Given the description of an element on the screen output the (x, y) to click on. 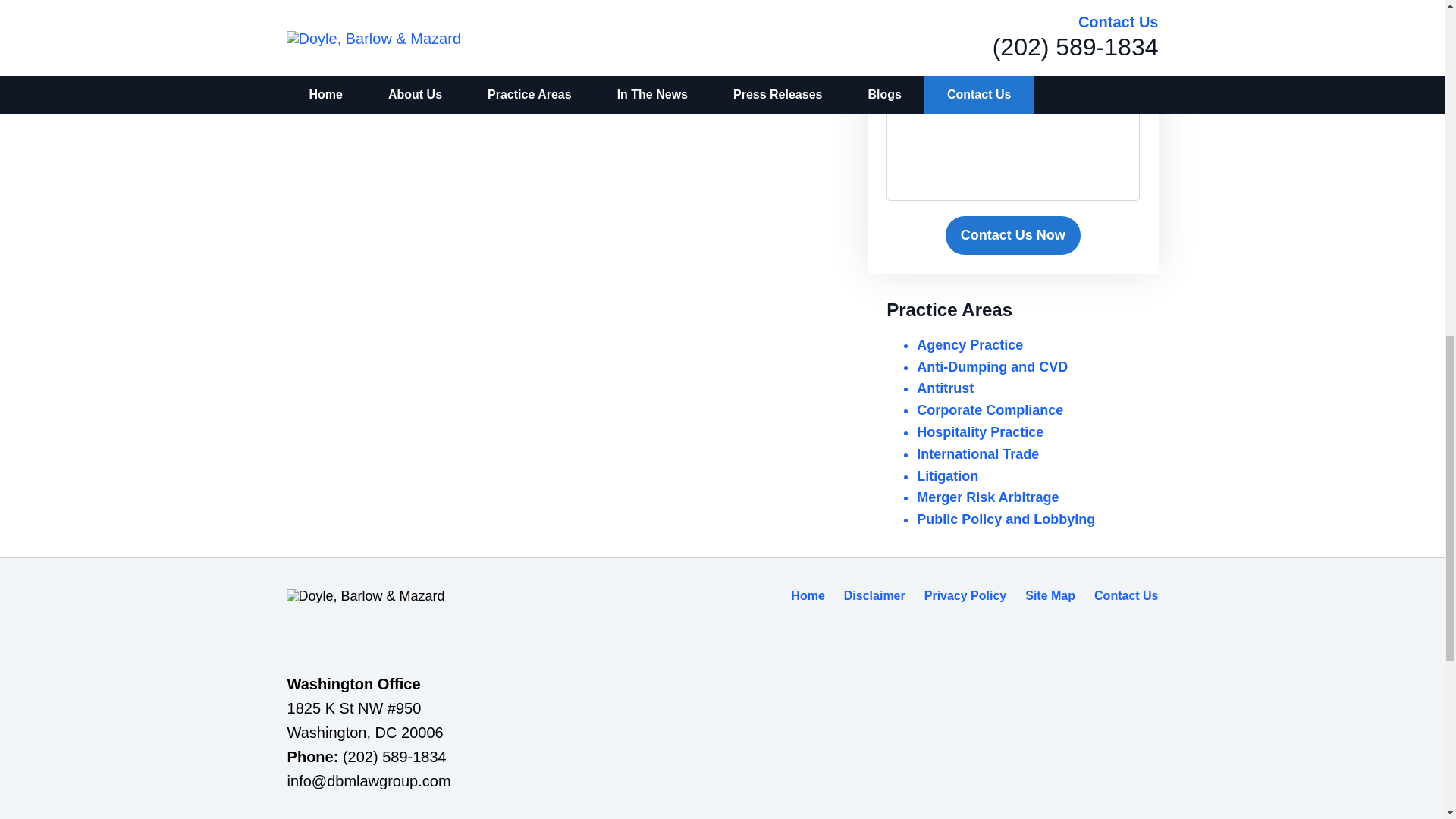
International Trade (978, 453)
Agency Practice (970, 344)
Practice Areas (948, 309)
Corporate Compliance (989, 409)
Privacy Policy (965, 594)
Hospitality Practice (980, 432)
Antitrust (945, 387)
Site Map (1050, 594)
Disclaimer (874, 594)
Home (807, 594)
Litigation (947, 476)
Merger Risk Arbitrage (987, 497)
Contact Us (1125, 594)
Public Policy and Lobbying (1005, 519)
Contact Us Now (1012, 235)
